Given the description of an element on the screen output the (x, y) to click on. 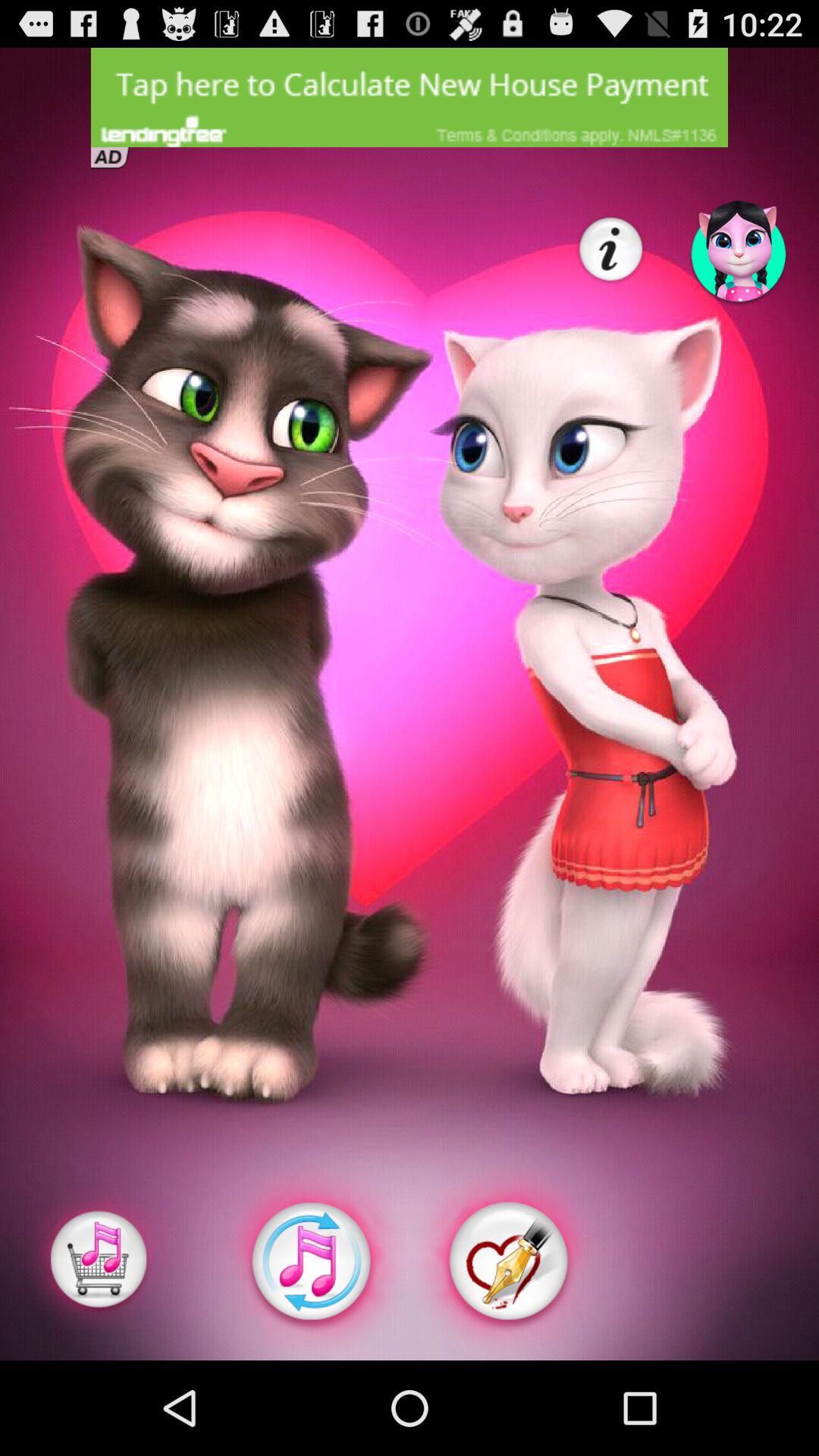
tap here (409, 97)
